Given the description of an element on the screen output the (x, y) to click on. 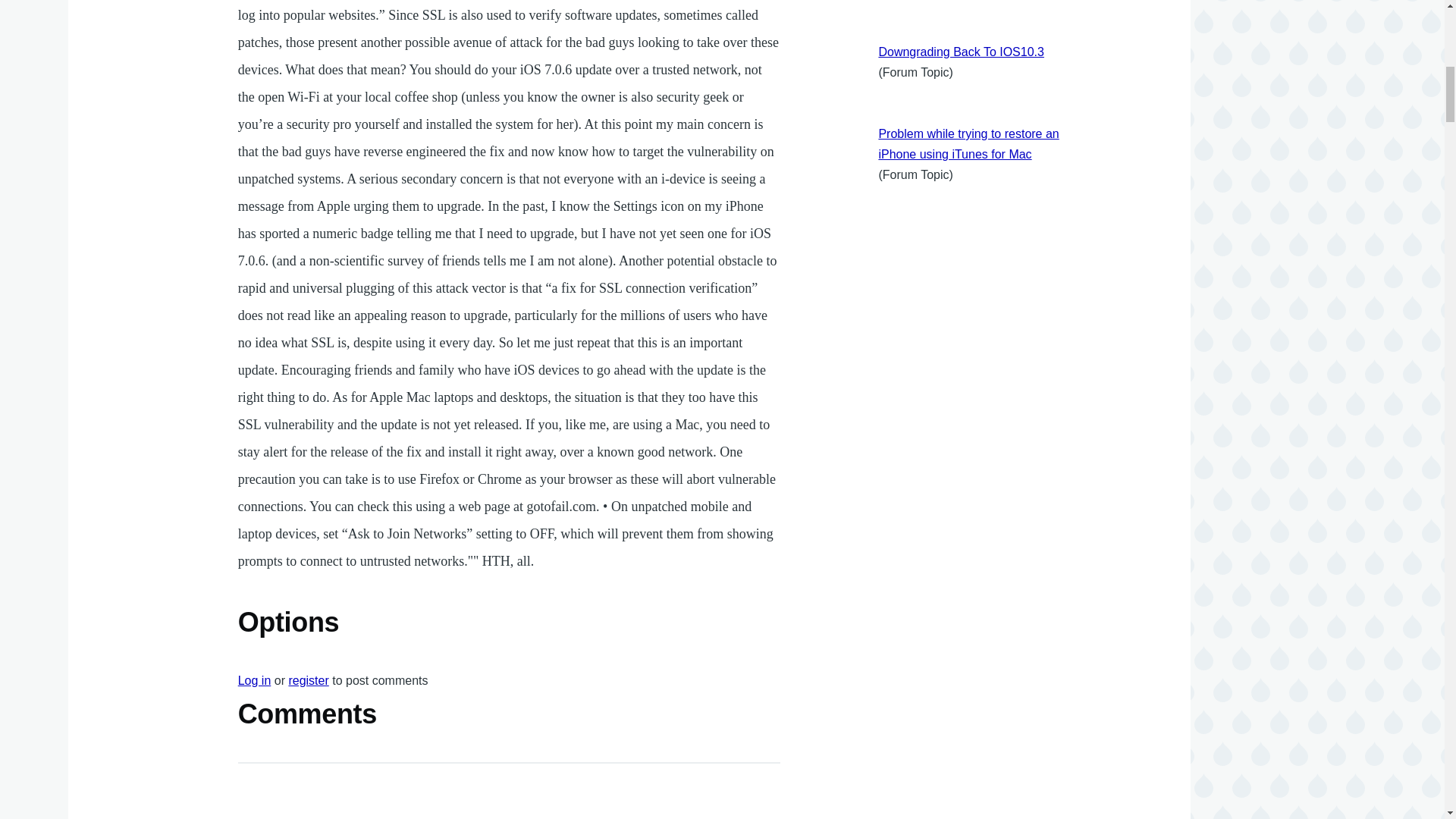
Log in (254, 680)
register (308, 680)
